Given the description of an element on the screen output the (x, y) to click on. 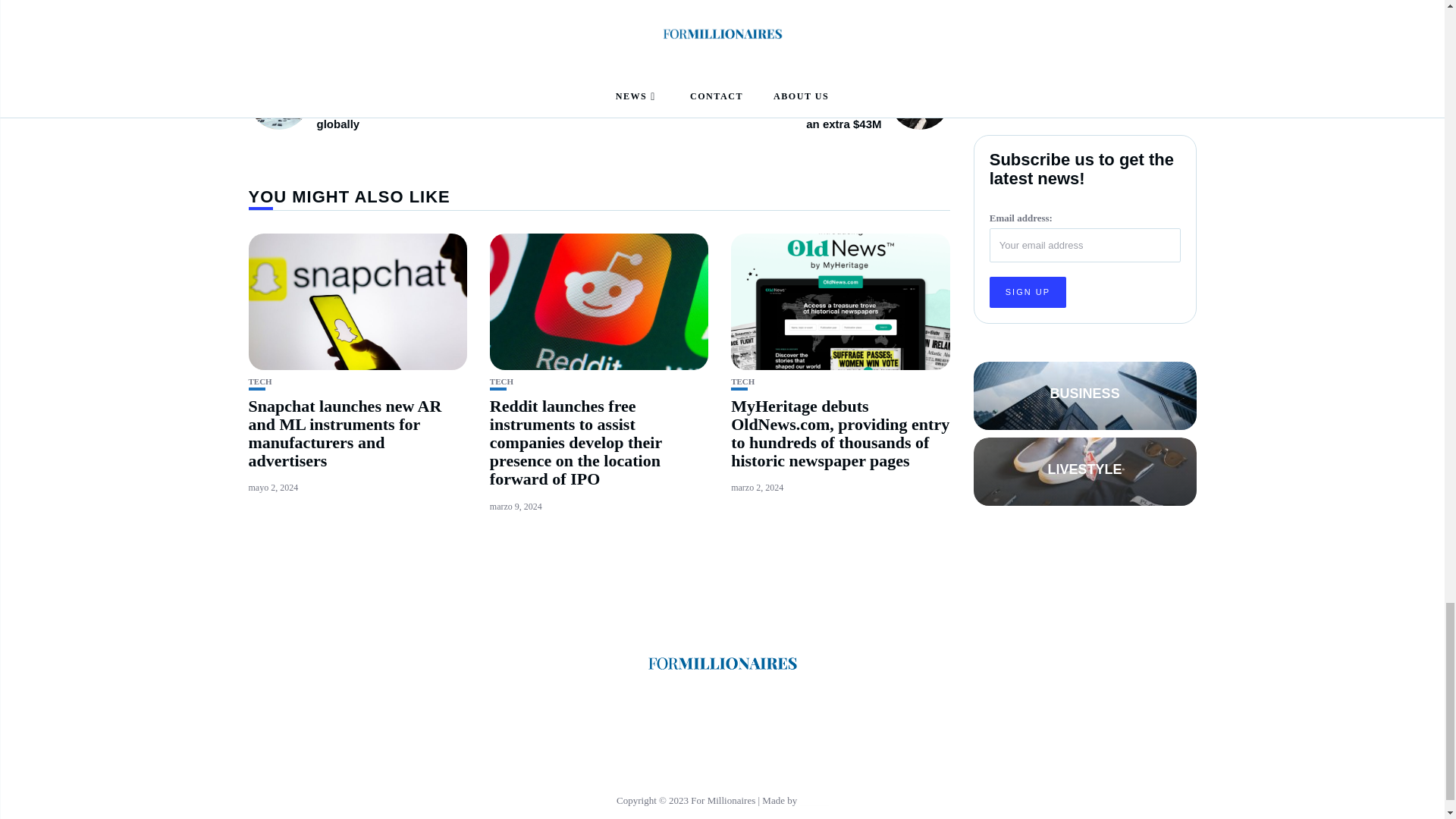
TECH (501, 381)
TECH (260, 381)
TECH (742, 381)
